Given the description of an element on the screen output the (x, y) to click on. 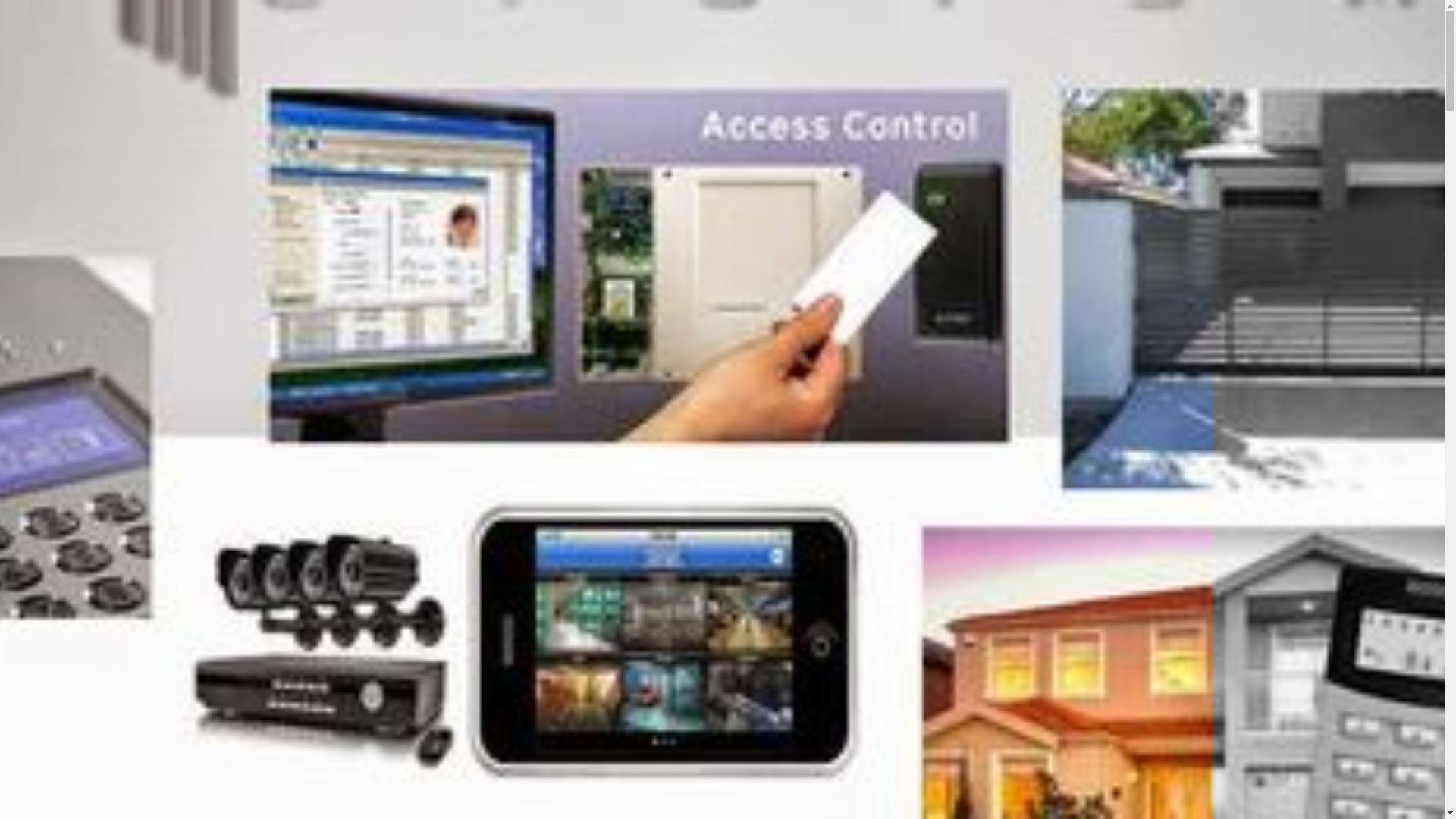
Get a quote its free! Element type: text (60, 328)
Add your business Element type: text (85, 145)
Ballarat Floor Sanding Element type: text (61, 808)
Open main menu Element type: text (50, 91)
Sign in Element type: text (23, 145)
Get a quote Element type: text (159, 145)
